Given the description of an element on the screen output the (x, y) to click on. 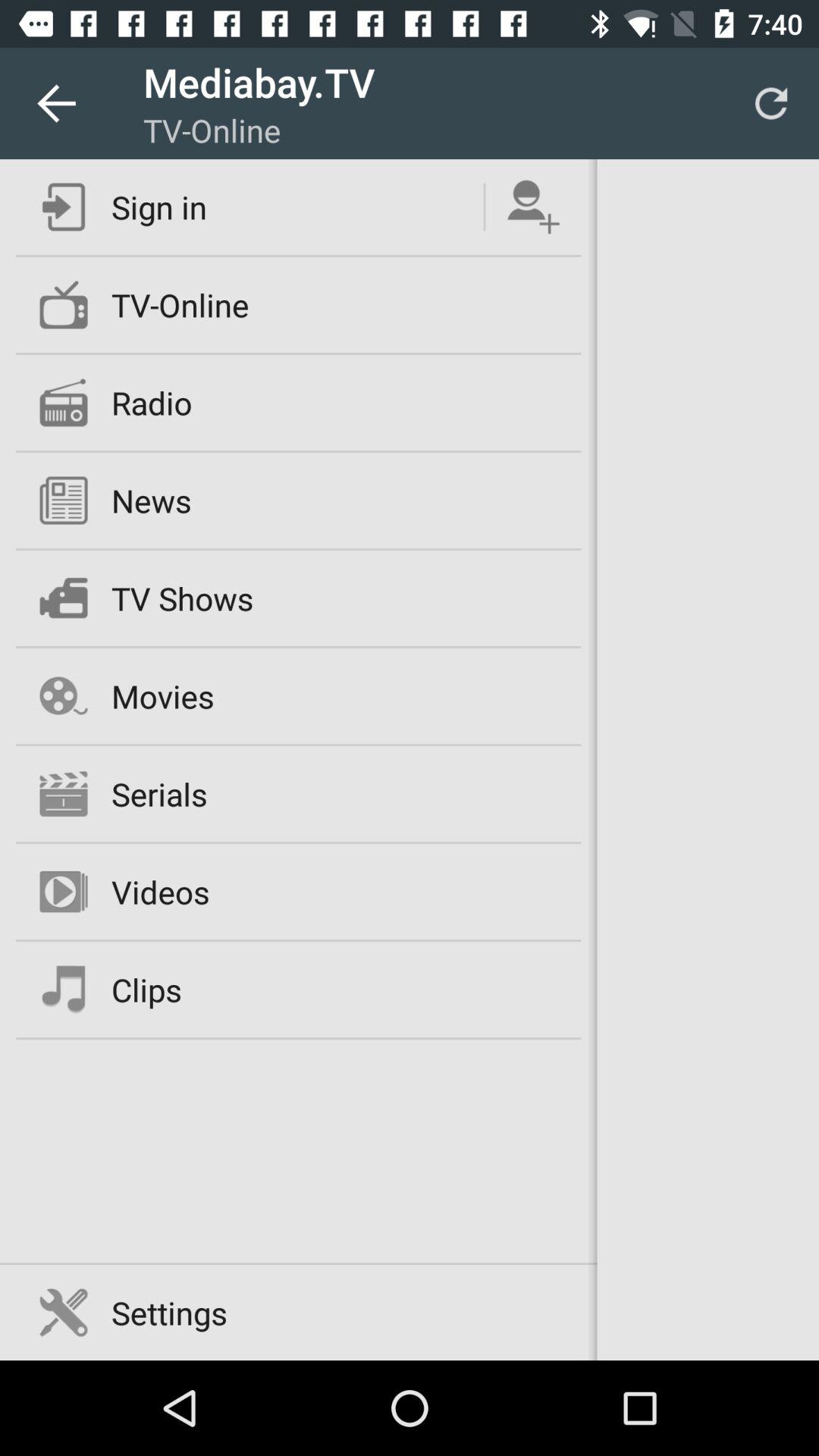
press the videos item (160, 891)
